Given the description of an element on the screen output the (x, y) to click on. 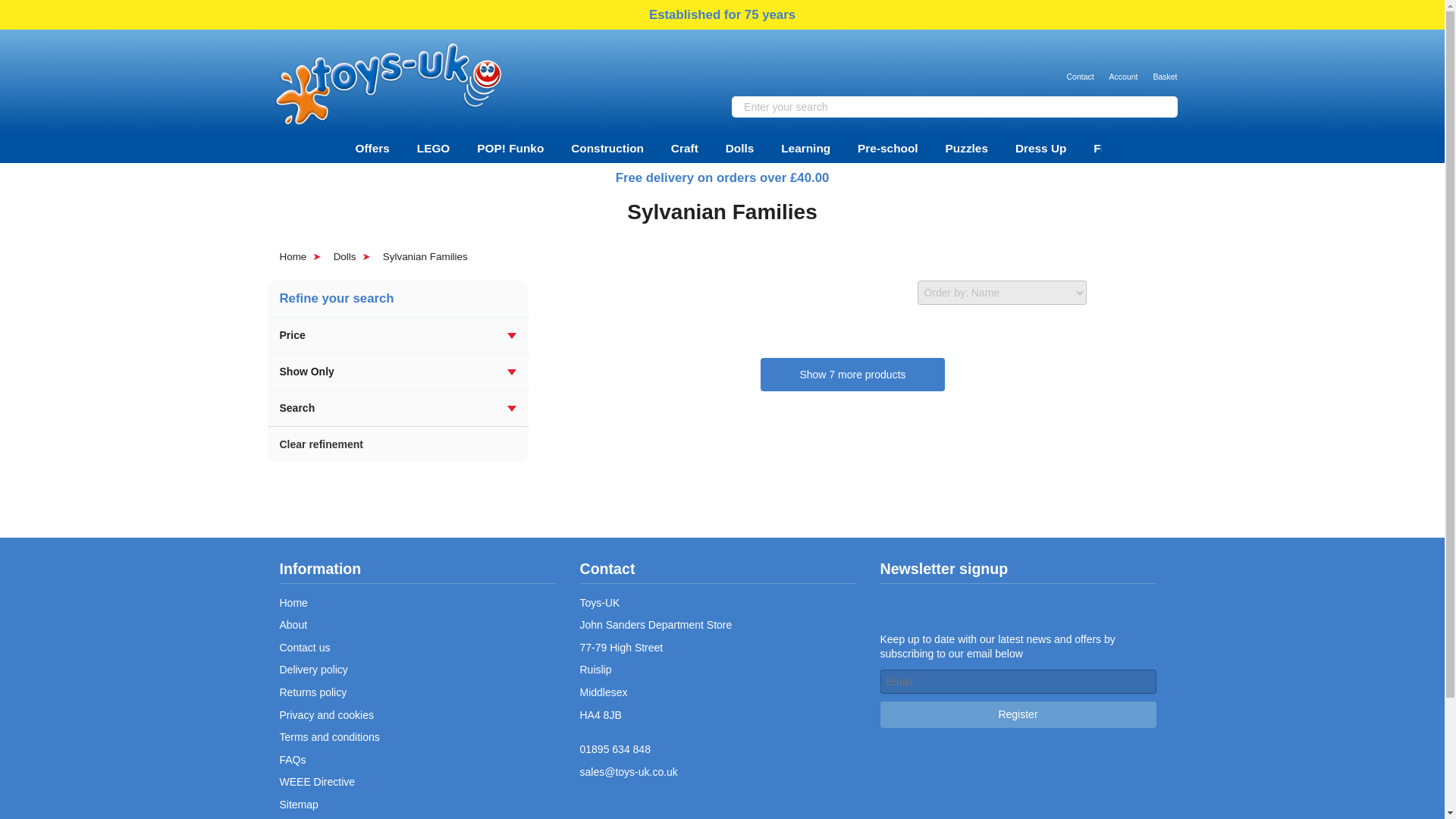
Contact (1079, 66)
LEGO (433, 147)
Search (1161, 106)
Search (1161, 106)
List view (1146, 292)
Established for 75 years (721, 15)
Offers (371, 147)
Account (1123, 66)
Thumbnail view (1109, 292)
